Given the description of an element on the screen output the (x, y) to click on. 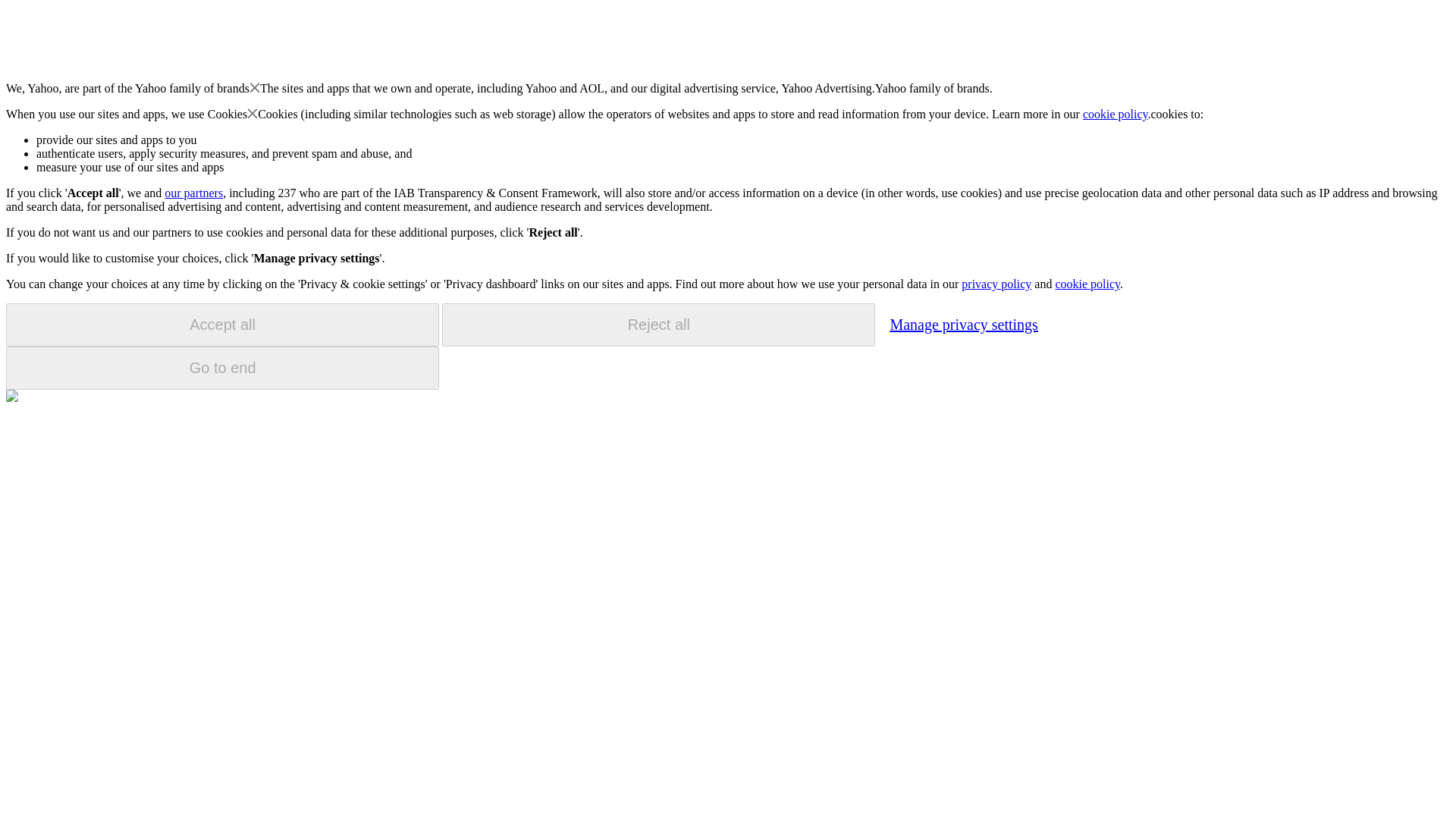
our partners (193, 192)
Reject all (658, 324)
Manage privacy settings (963, 323)
privacy policy (995, 283)
Go to end (222, 367)
cookie policy (1086, 283)
cookie policy (1115, 113)
Accept all (222, 324)
